Given the description of an element on the screen output the (x, y) to click on. 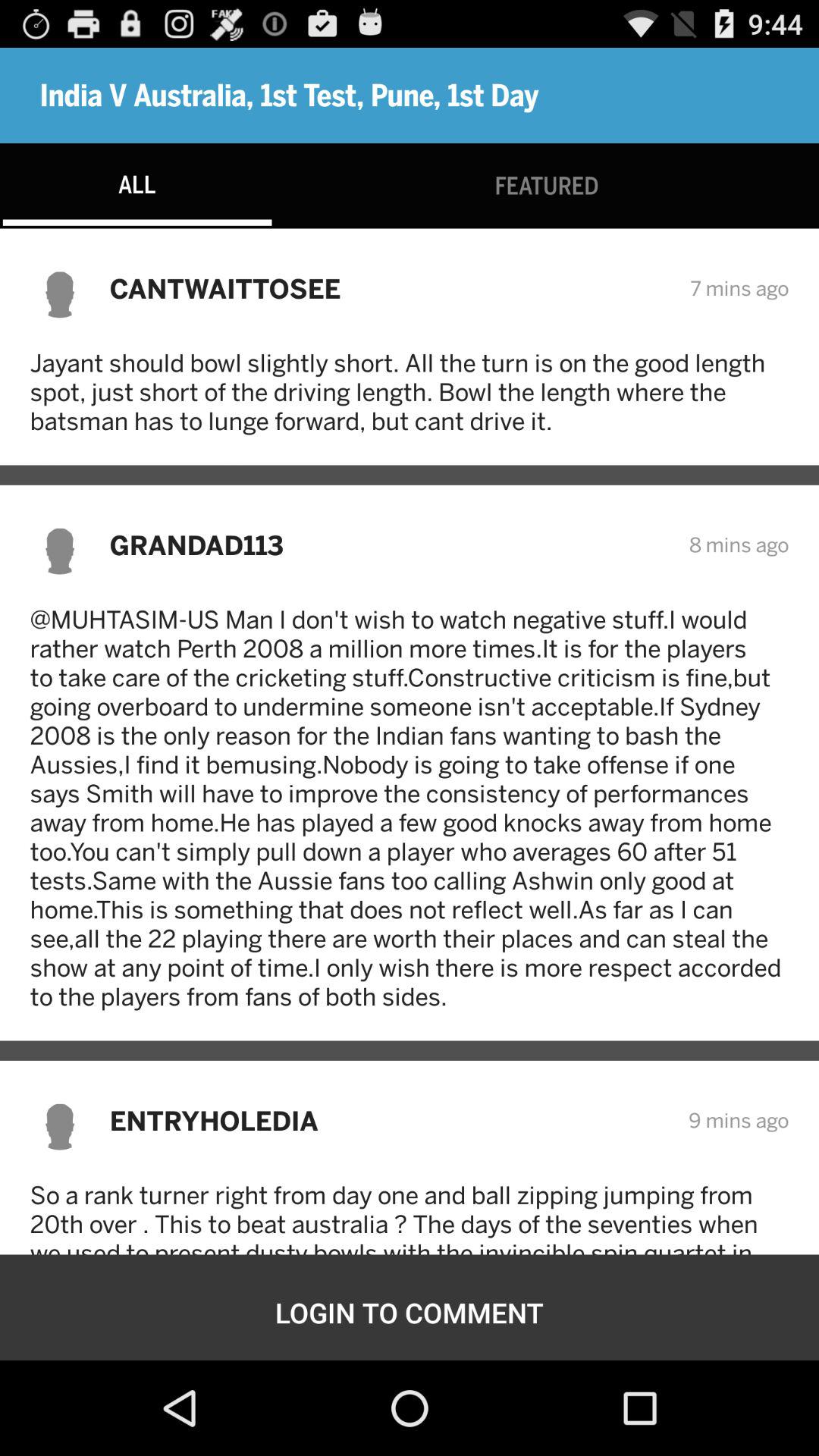
swipe to the cantwaittosee item (389, 288)
